Given the description of an element on the screen output the (x, y) to click on. 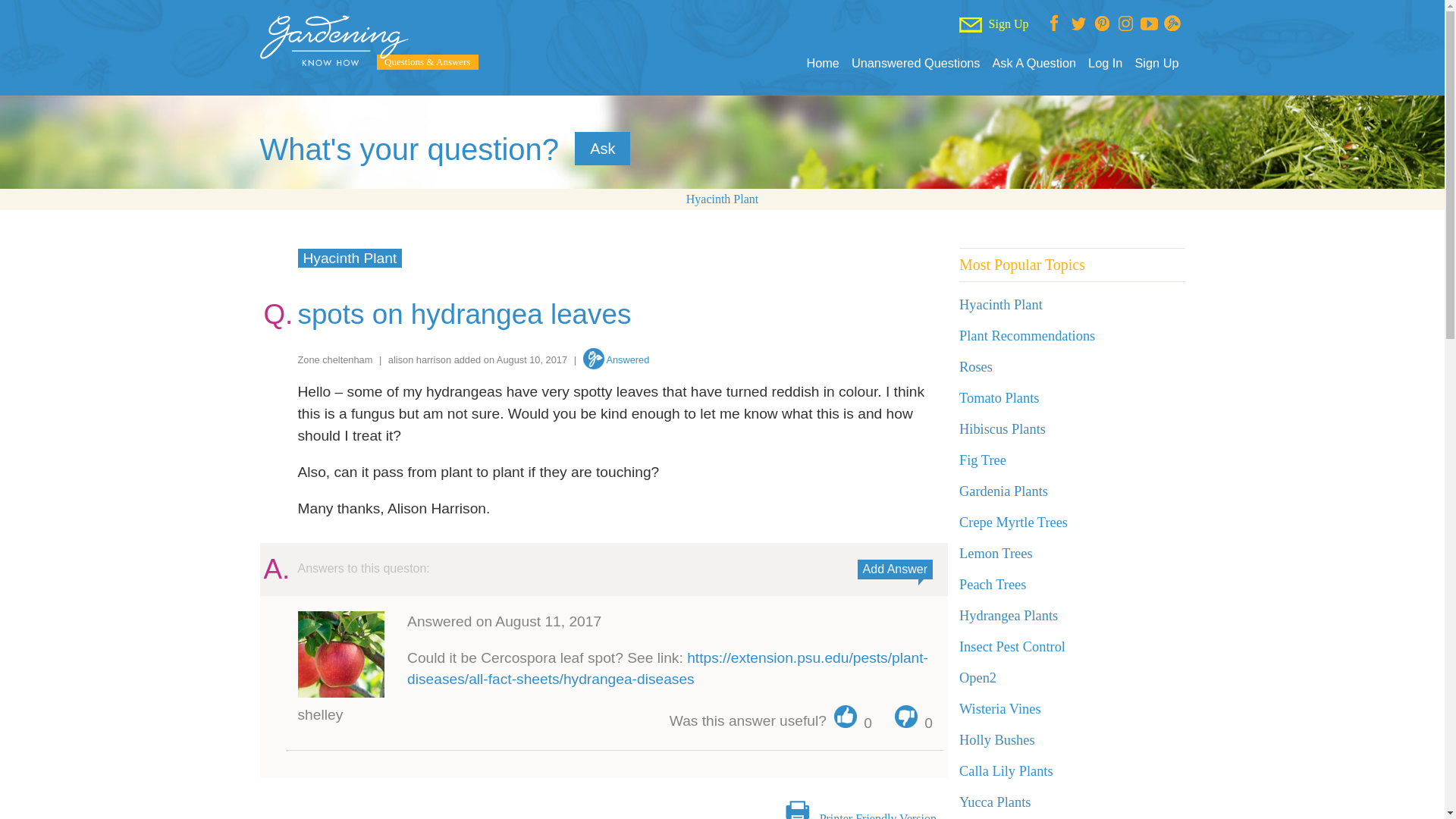
Peach Trees (992, 584)
Plant Recommendations (1026, 335)
Unanswered Questions (916, 62)
Plant Recommendations (1026, 335)
Hyacinth Plant (721, 198)
sign up (354, 818)
Add Answer (895, 569)
Answered (616, 359)
Printer Friendly Version (877, 815)
Roses (975, 366)
Home (822, 62)
Hyacinth Plant (721, 198)
Hyacinth Plant (349, 257)
Lemon Trees (995, 553)
Crepe Myrtle Trees (1013, 522)
